Given the description of an element on the screen output the (x, y) to click on. 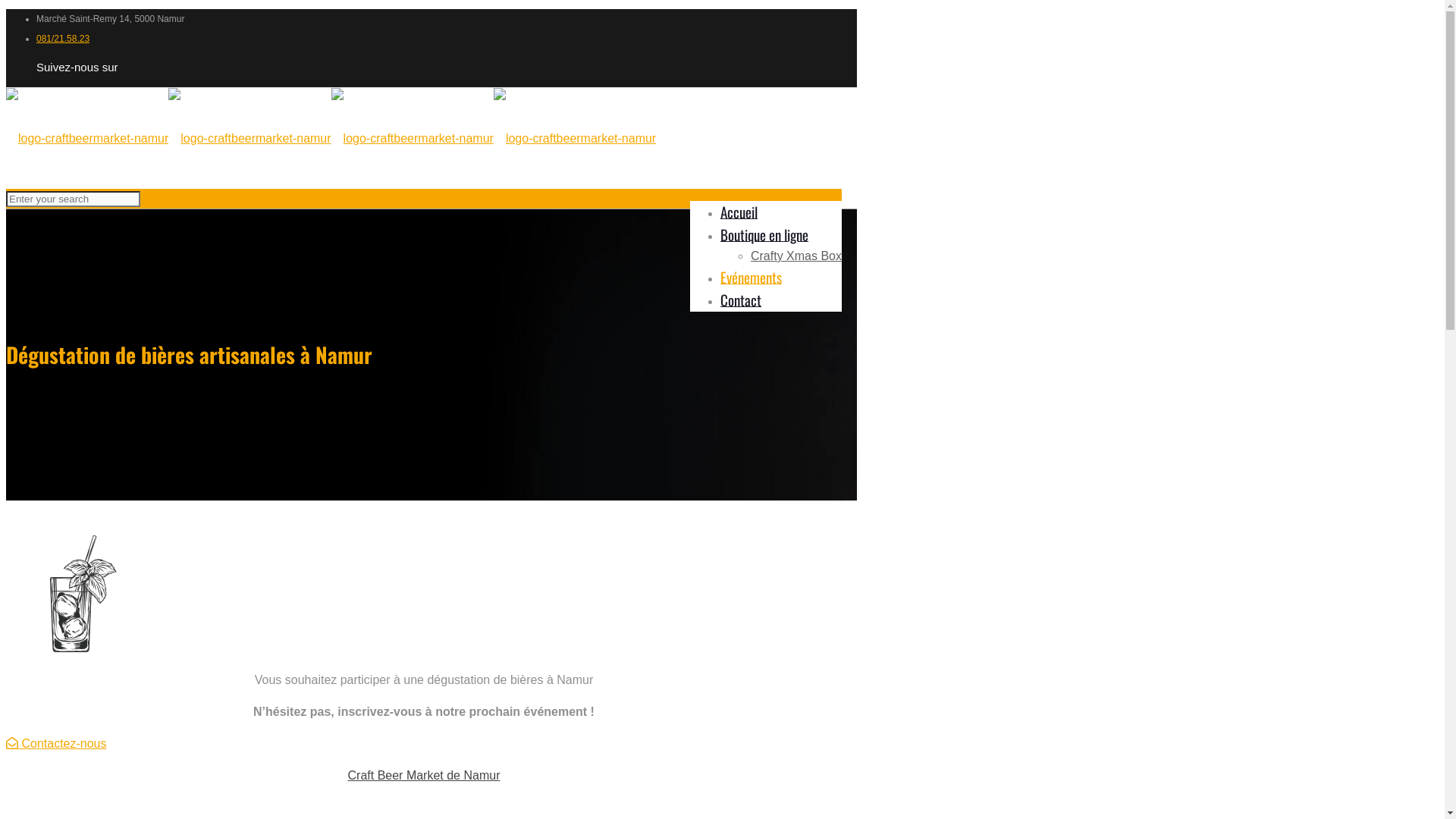
Contactez-nous Element type: text (56, 743)
Contact Element type: text (740, 298)
Craft Beer Market de Namur Element type: text (424, 774)
Craft Beer Market Element type: hover (330, 138)
Boutique en ligne Element type: text (764, 233)
Accueil Element type: text (738, 210)
Crafty Xmas Box Element type: text (795, 255)
081/21.58.23 Element type: text (62, 38)
